Given the description of an element on the screen output the (x, y) to click on. 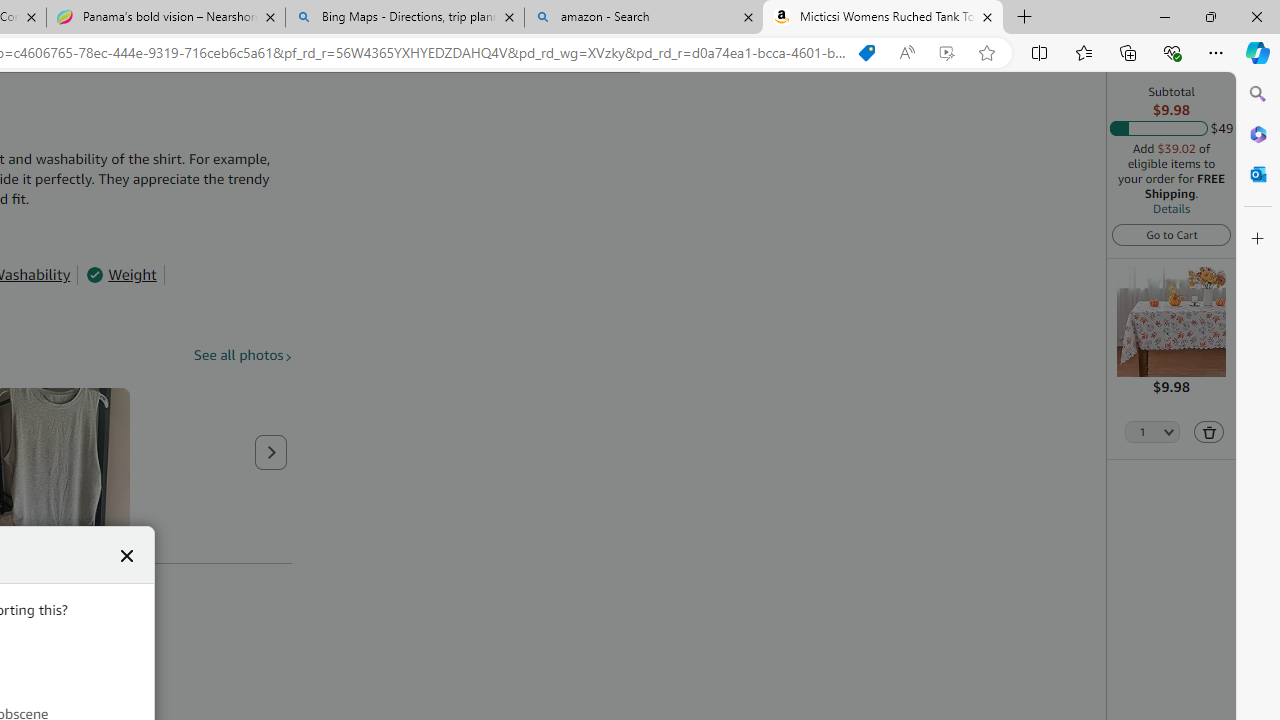
Weight (121, 274)
